Given the description of an element on the screen output the (x, y) to click on. 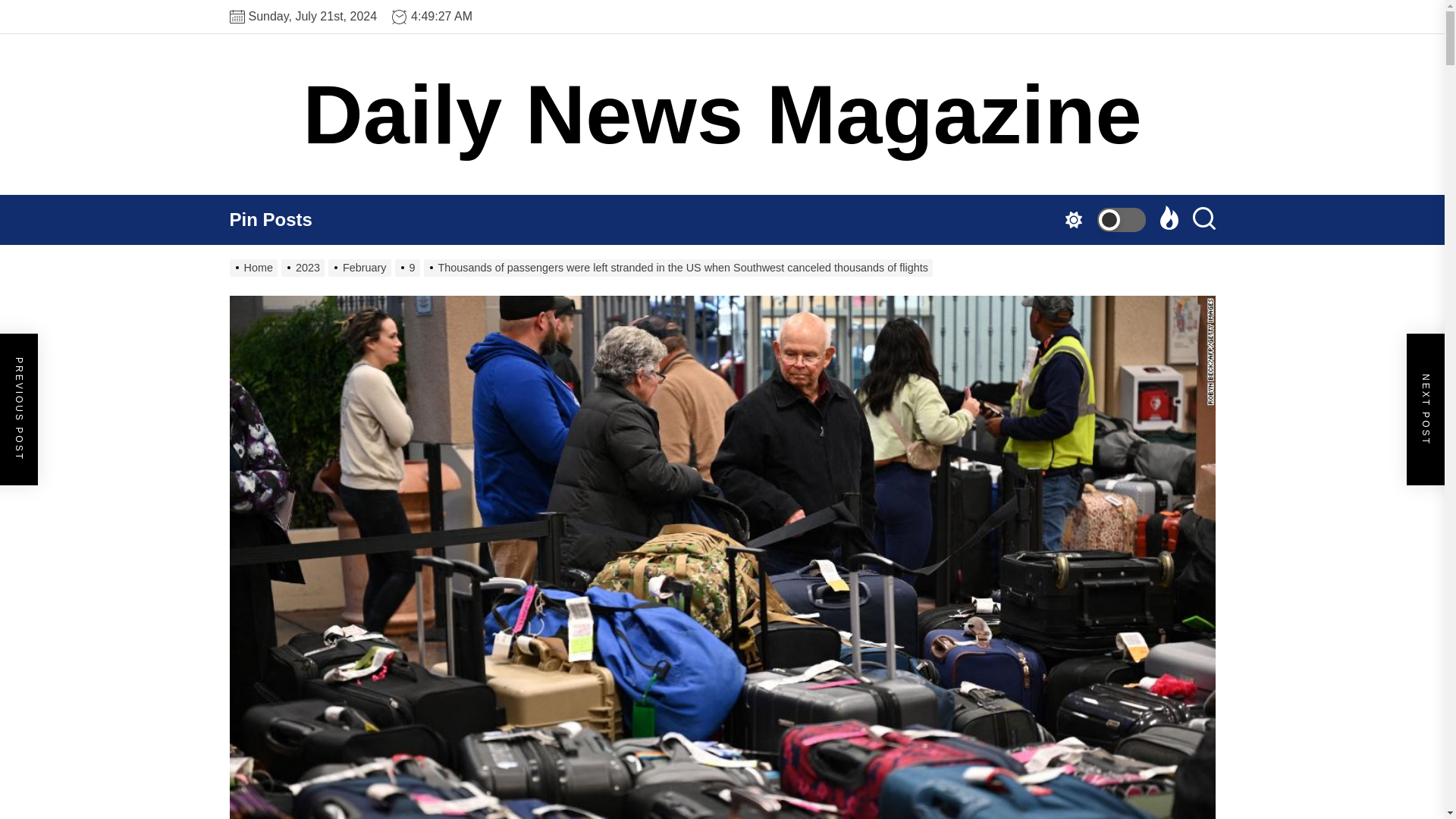
2023 (305, 267)
Pin Posts (277, 219)
February (361, 267)
9 (408, 267)
Home (254, 267)
Daily News Magazine (721, 114)
